Given the description of an element on the screen output the (x, y) to click on. 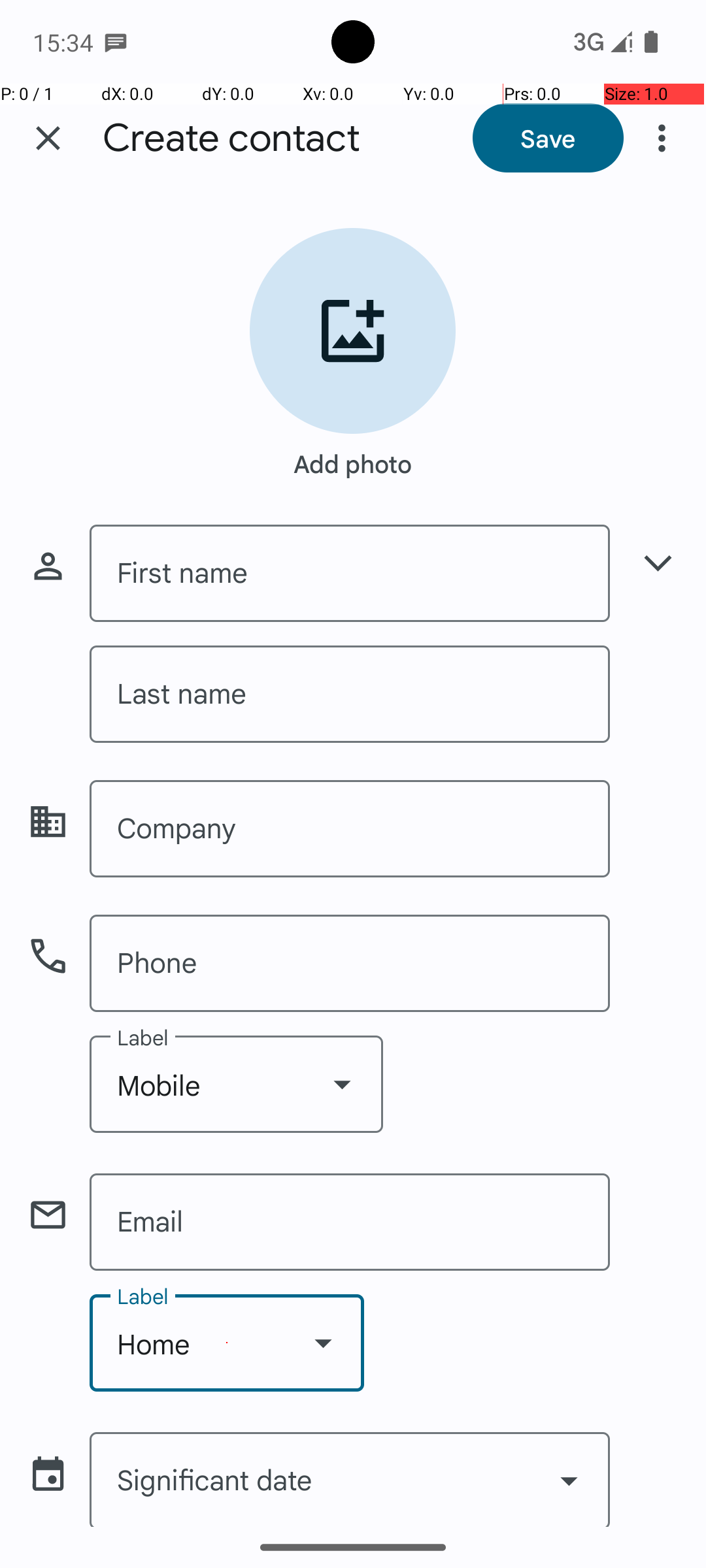
Create contact Element type: android.widget.TextView (231, 138)
Save Element type: android.widget.Button (547, 137)
First name Element type: android.widget.EditText (349, 572)
Last name Element type: android.widget.EditText (349, 693)
Company Element type: android.widget.EditText (349, 828)
Mobile Element type: android.widget.Spinner (236, 1083)
Show dropdown menu Element type: android.widget.ImageButton (341, 1083)
Email Element type: android.widget.EditText (349, 1221)
Significant date Element type: android.widget.EditText (349, 1479)
Show date picker Element type: android.widget.ImageButton (568, 1480)
Add contact photo Element type: android.widget.ImageView (352, 330)
Add photo Element type: android.widget.TextView (352, 456)
Show more name fields Element type: android.widget.ImageView (657, 562)
